Given the description of an element on the screen output the (x, y) to click on. 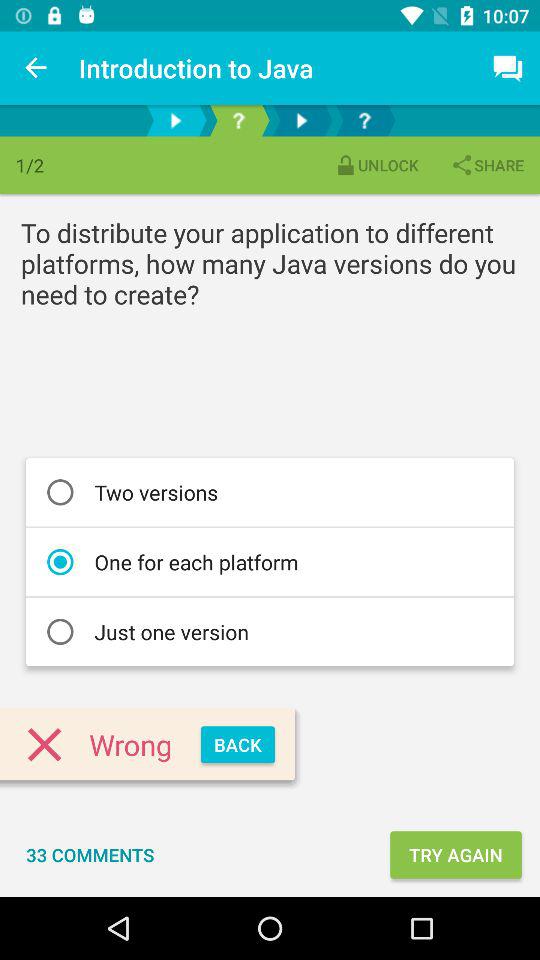
click the back item (237, 744)
